Given the description of an element on the screen output the (x, y) to click on. 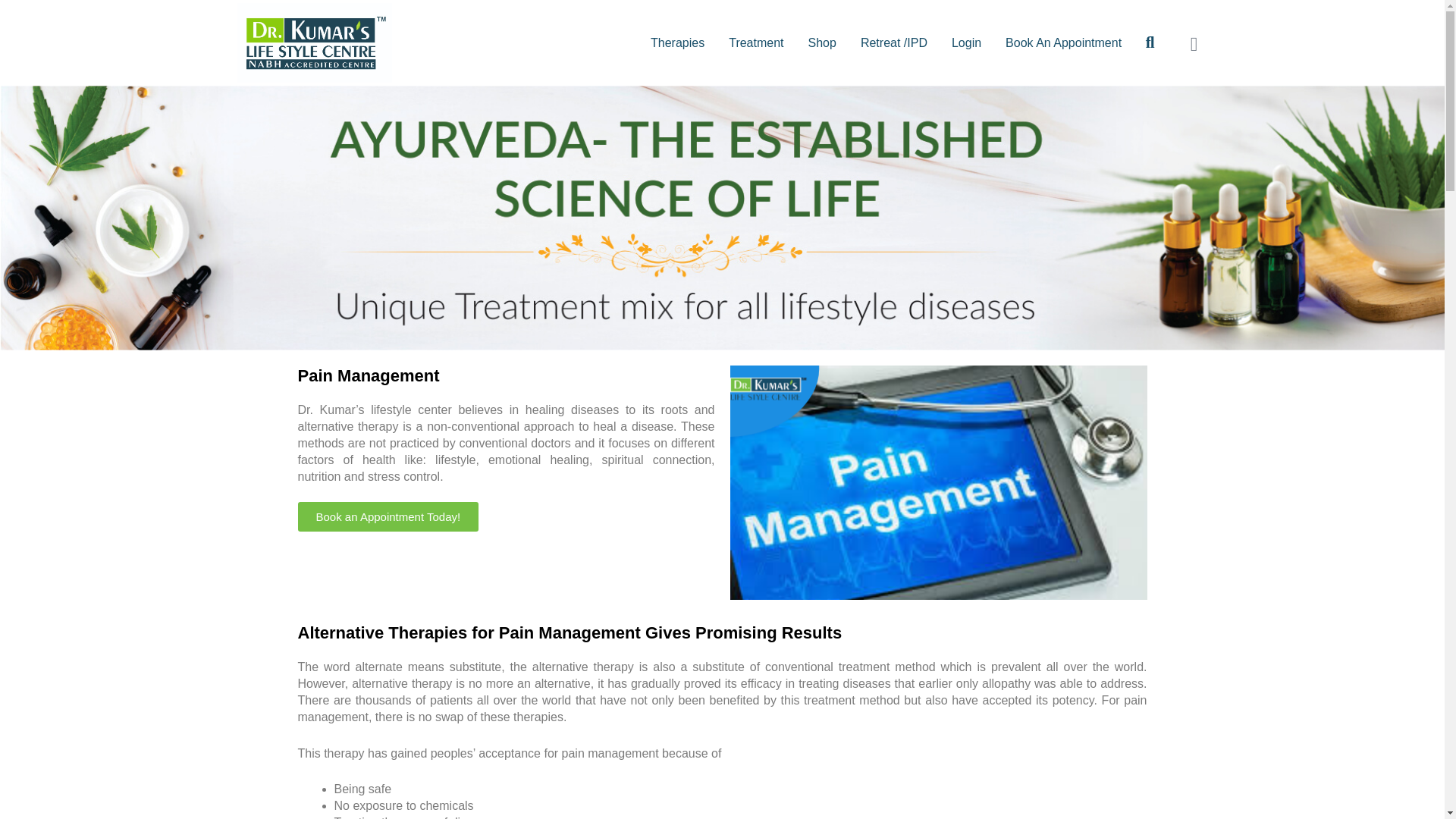
Treatment (756, 42)
Therapies (676, 42)
